Given the description of an element on the screen output the (x, y) to click on. 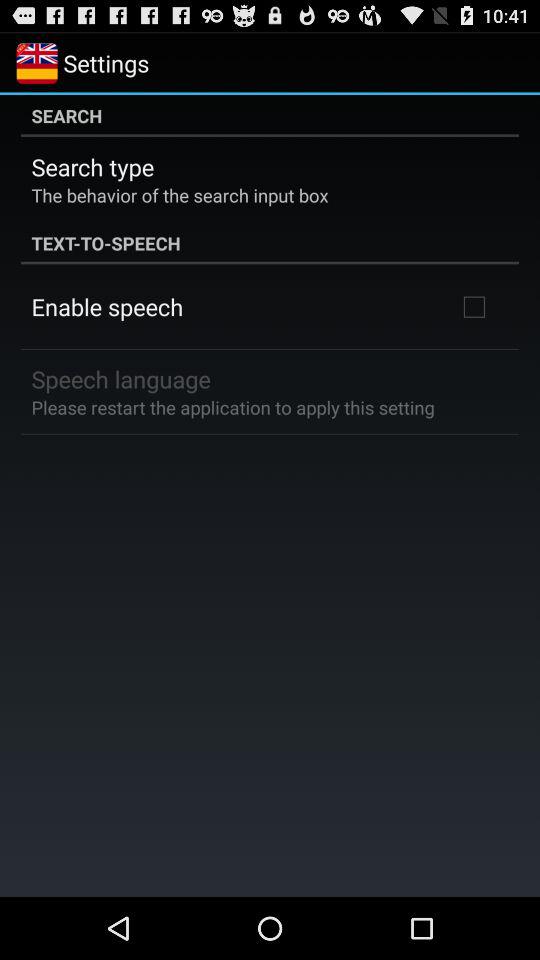
flip to search type (92, 166)
